Given the description of an element on the screen output the (x, y) to click on. 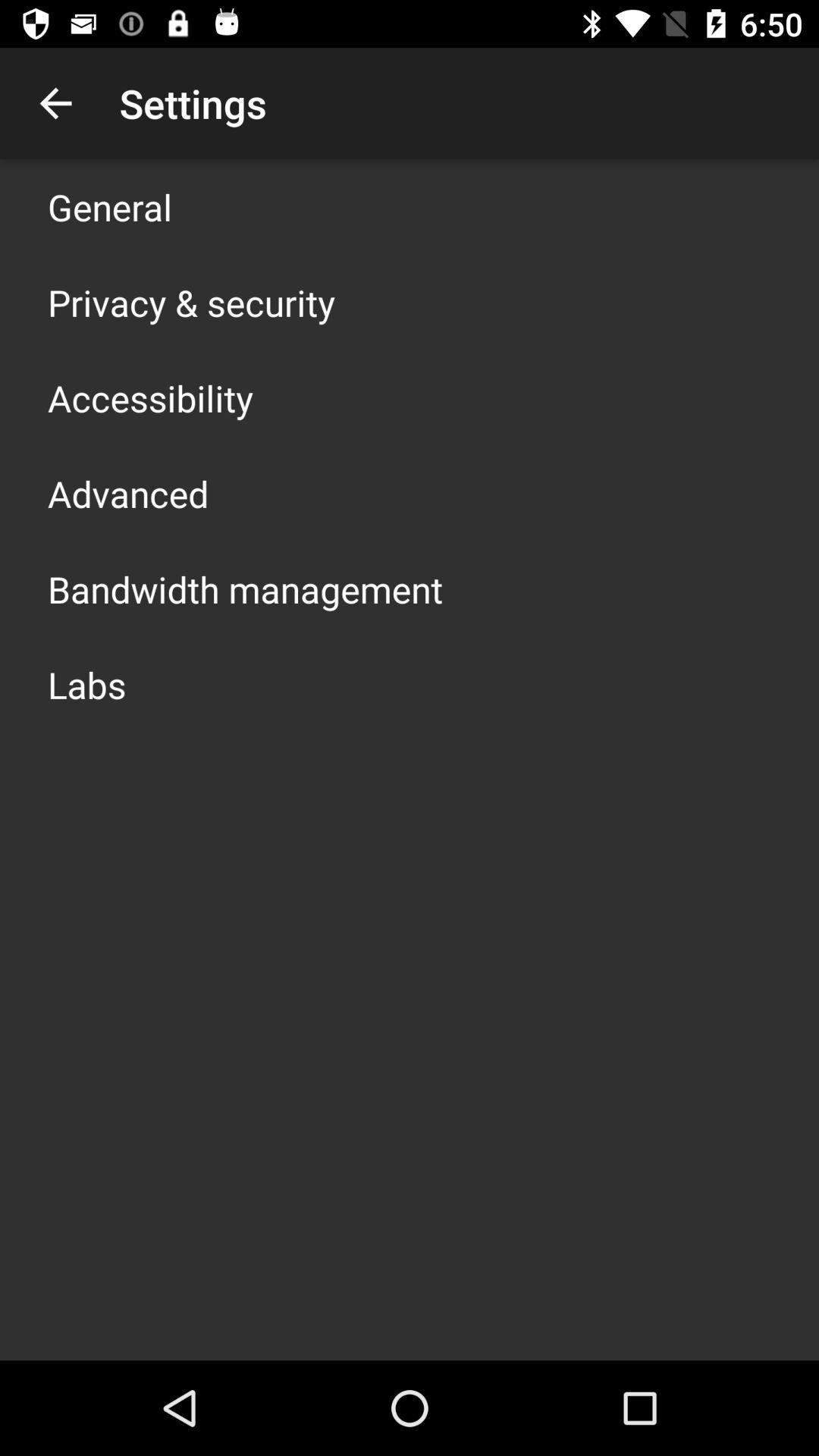
turn off item below the privacy & security app (150, 397)
